Given the description of an element on the screen output the (x, y) to click on. 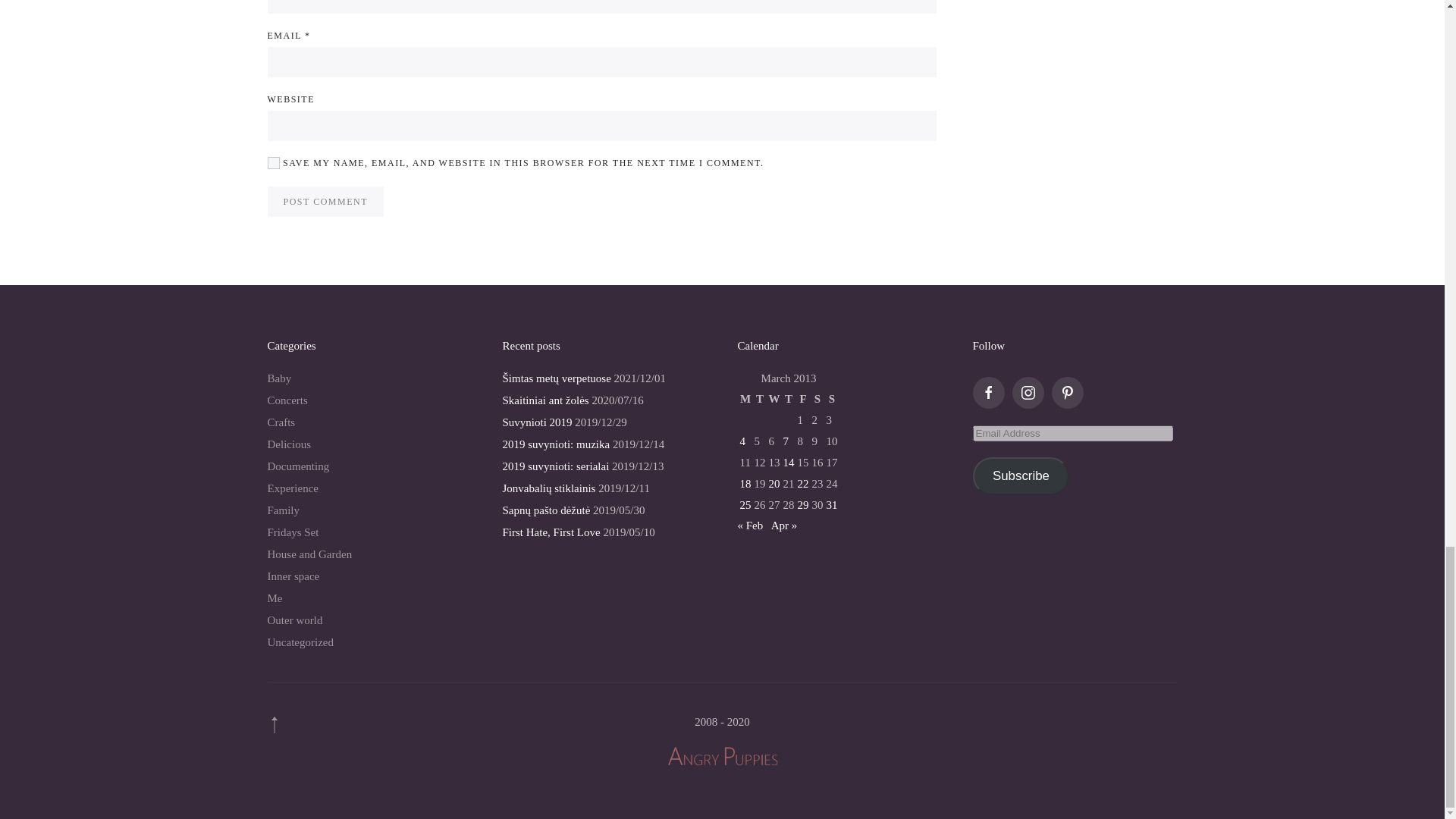
yes (272, 162)
POST COMMENT (324, 201)
